Given the description of an element on the screen output the (x, y) to click on. 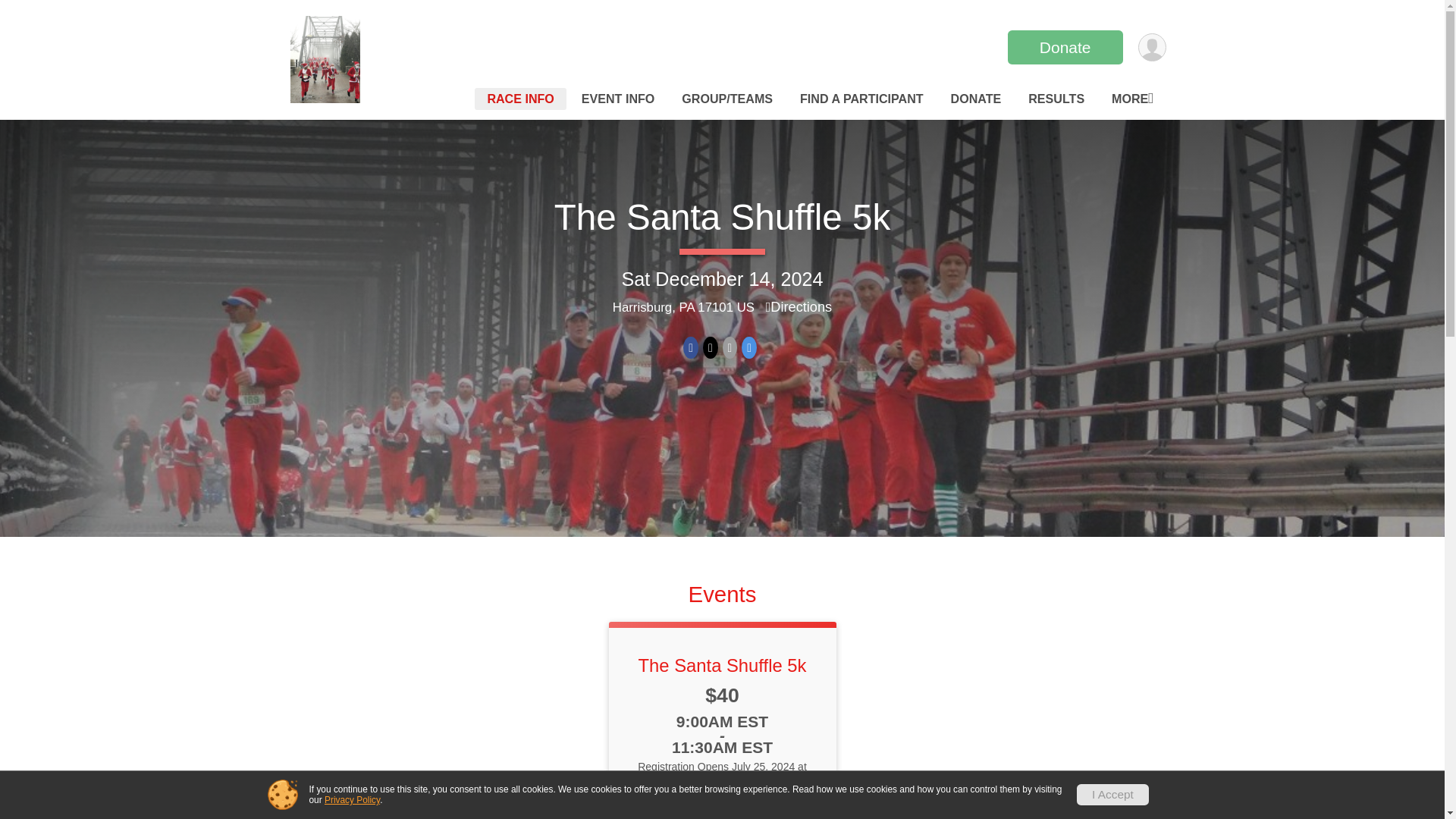
Directions (798, 306)
Donate (1064, 47)
EVENT INFO (617, 98)
RESULTS (1056, 98)
RACE INFO (520, 98)
MORE (1131, 98)
DONATE (976, 98)
FIND A PARTICIPANT (861, 98)
The Santa Shuffle 5k (722, 217)
